Given the description of an element on the screen output the (x, y) to click on. 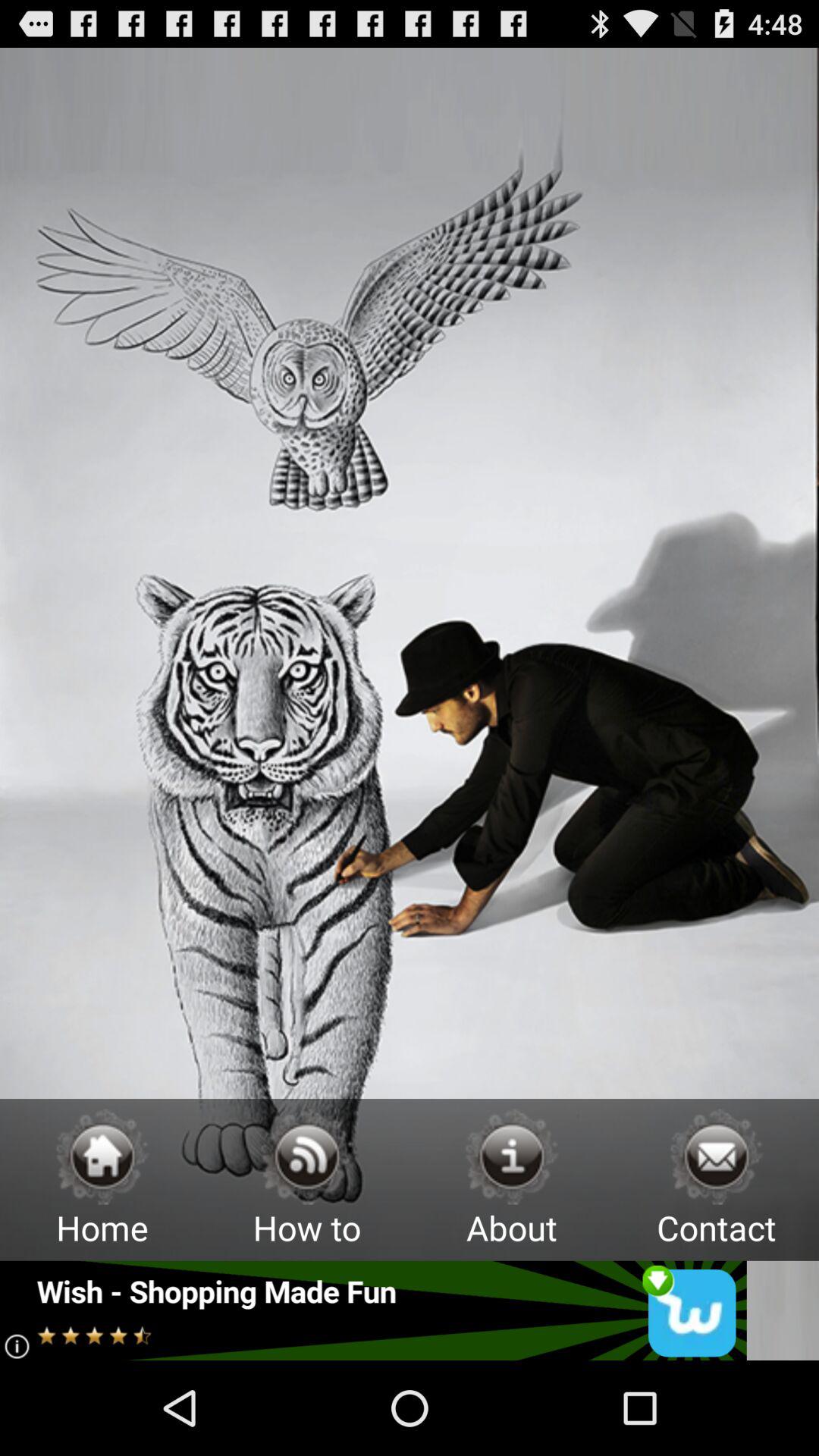
open advertisement (373, 1310)
